Given the description of an element on the screen output the (x, y) to click on. 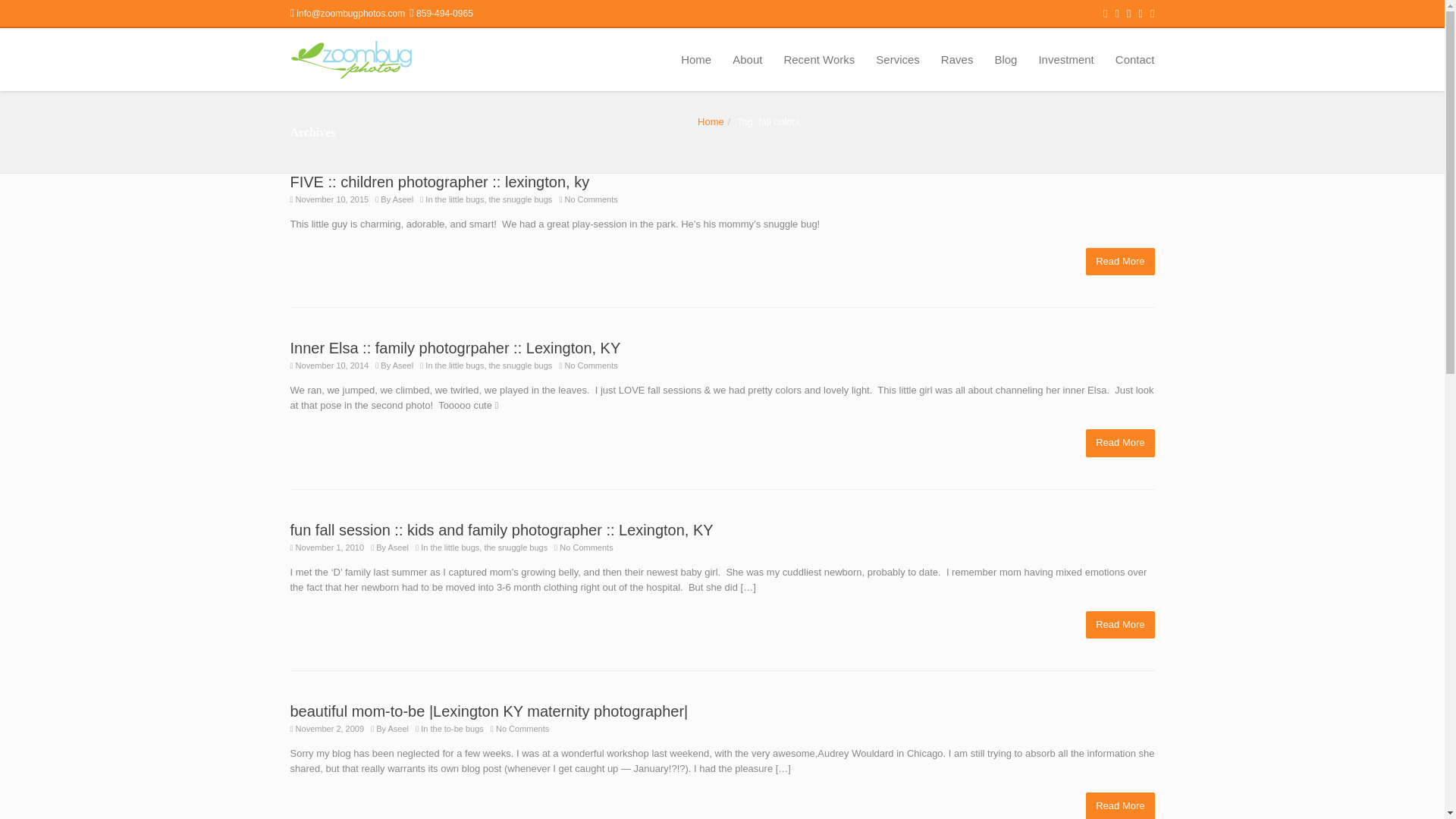
FIVE :: children photographer :: lexington, ky (439, 181)
Services (897, 58)
Read More (1120, 443)
Aseel (398, 547)
the little bugs (459, 198)
Investment (1065, 58)
the snuggle bugs (521, 365)
Posts by Aseel (398, 728)
Read More (1120, 805)
Posts by Aseel (403, 198)
